Given the description of an element on the screen output the (x, y) to click on. 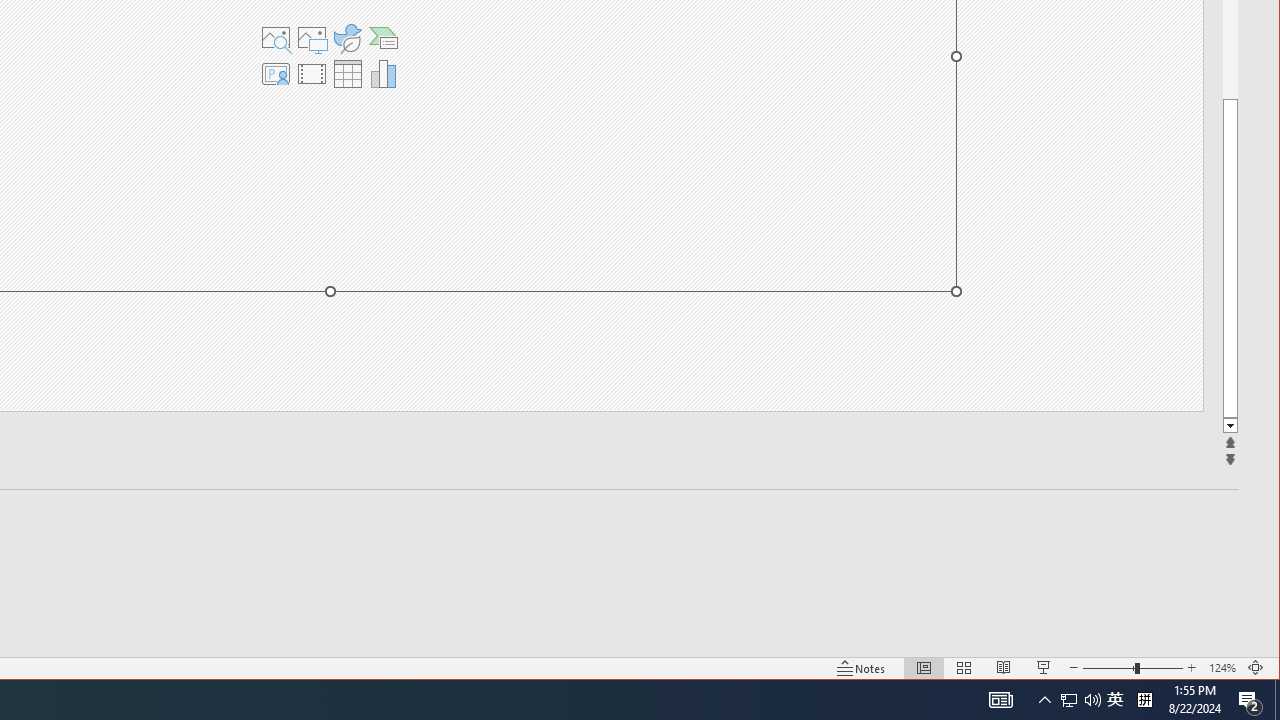
Insert a SmartArt Graphic (383, 38)
Stock Images (275, 38)
Insert Table (347, 74)
Pictures (311, 38)
